Given the description of an element on the screen output the (x, y) to click on. 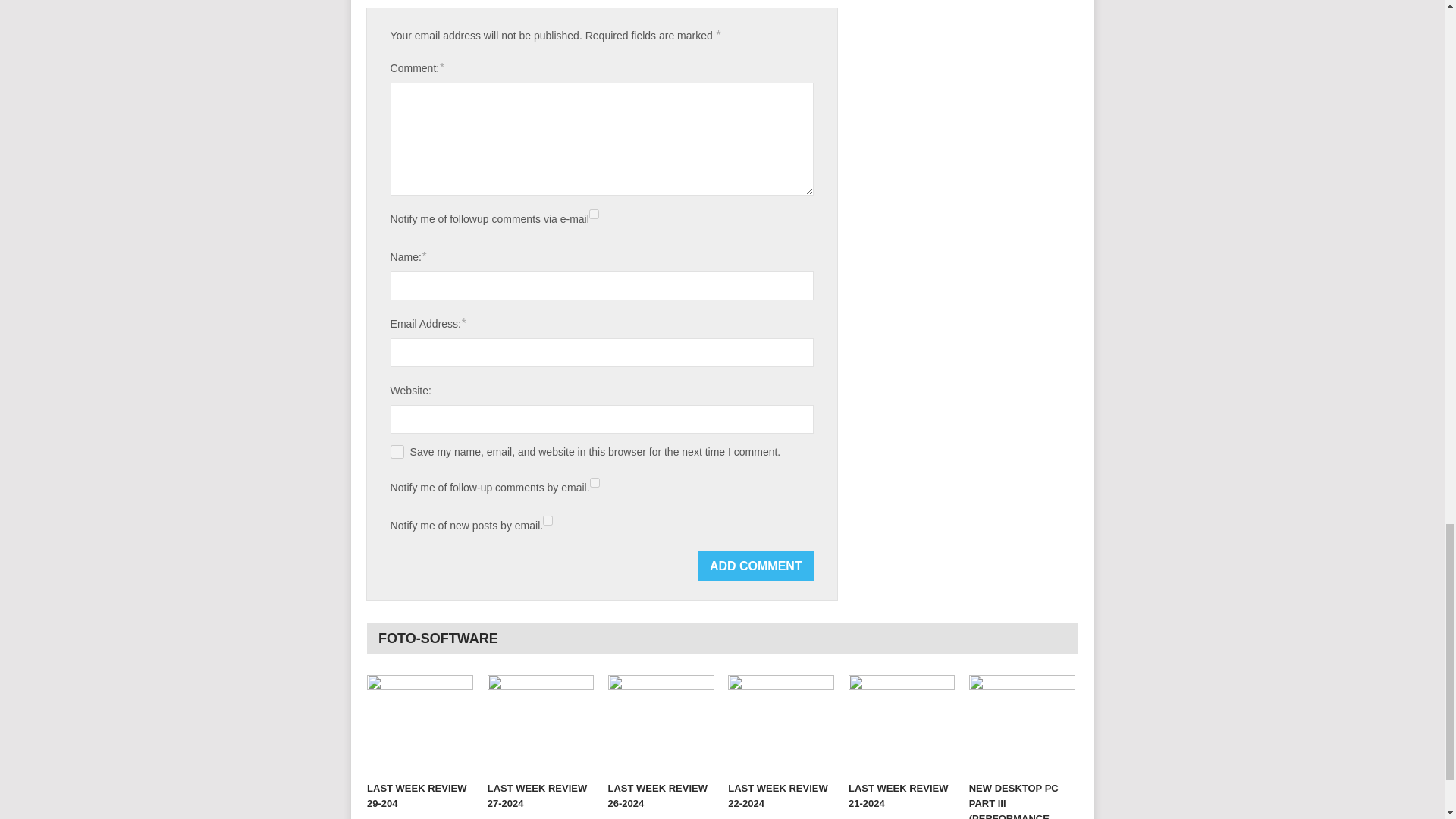
subscribe (548, 520)
subscribe (593, 214)
subscribe (594, 482)
Add Comment (755, 565)
yes (397, 451)
